Given the description of an element on the screen output the (x, y) to click on. 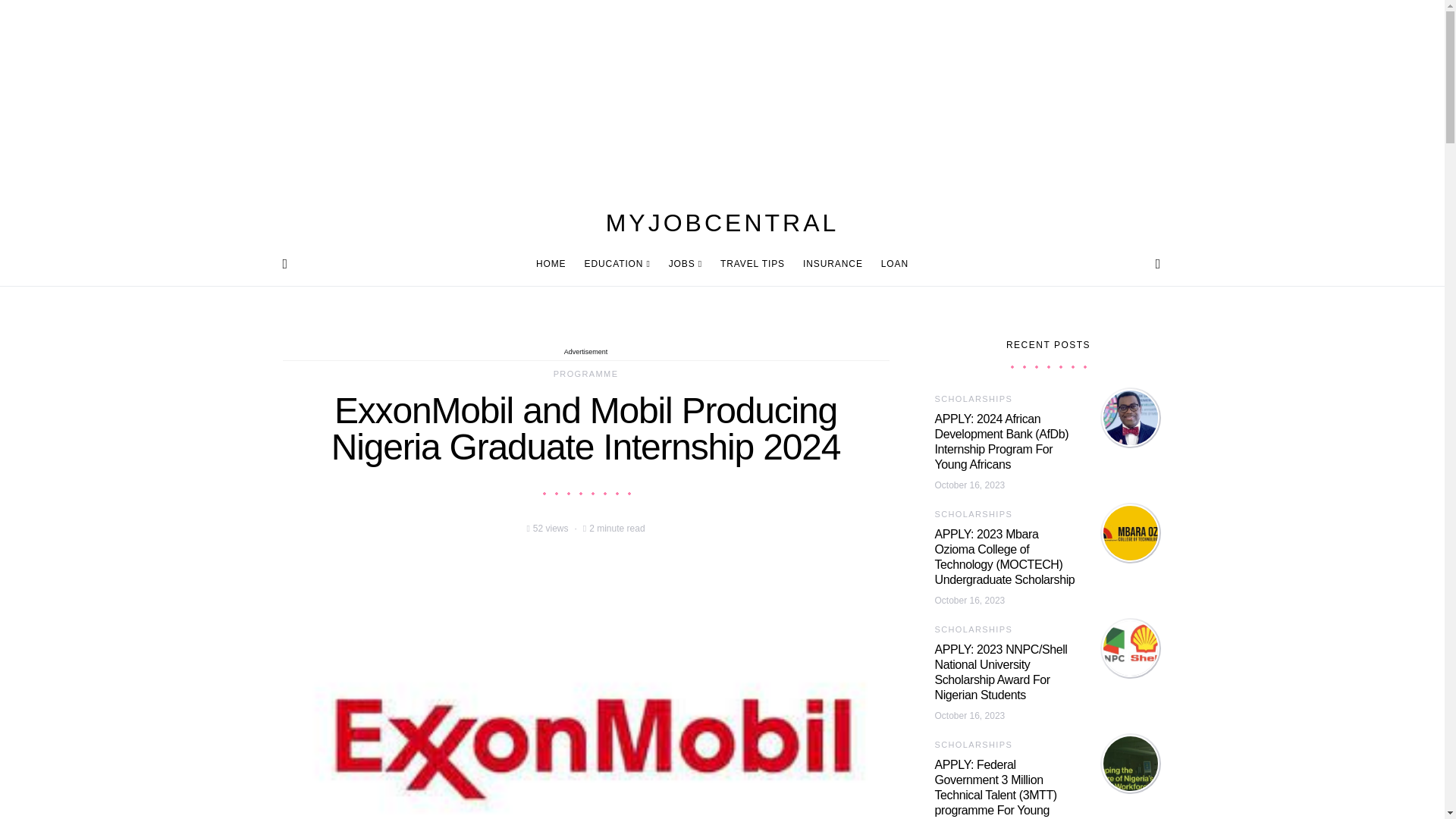
TRAVEL TIPS (752, 263)
INSURANCE (832, 263)
MYJOBCENTRAL (722, 222)
PROGRAMME (585, 373)
JOBS (685, 263)
EDUCATION (617, 263)
